Given the description of an element on the screen output the (x, y) to click on. 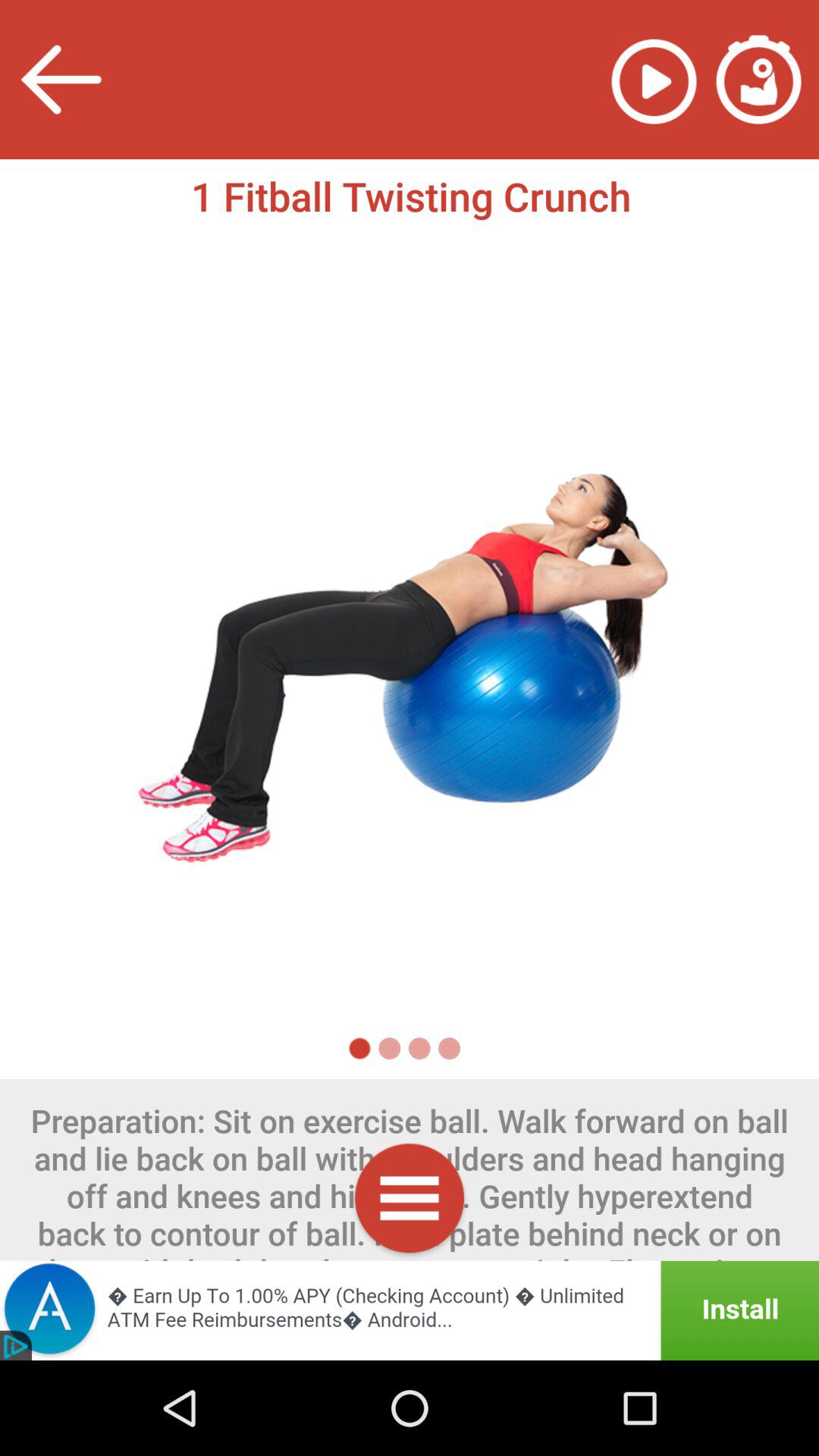
click advertisement (409, 1310)
